Given the description of an element on the screen output the (x, y) to click on. 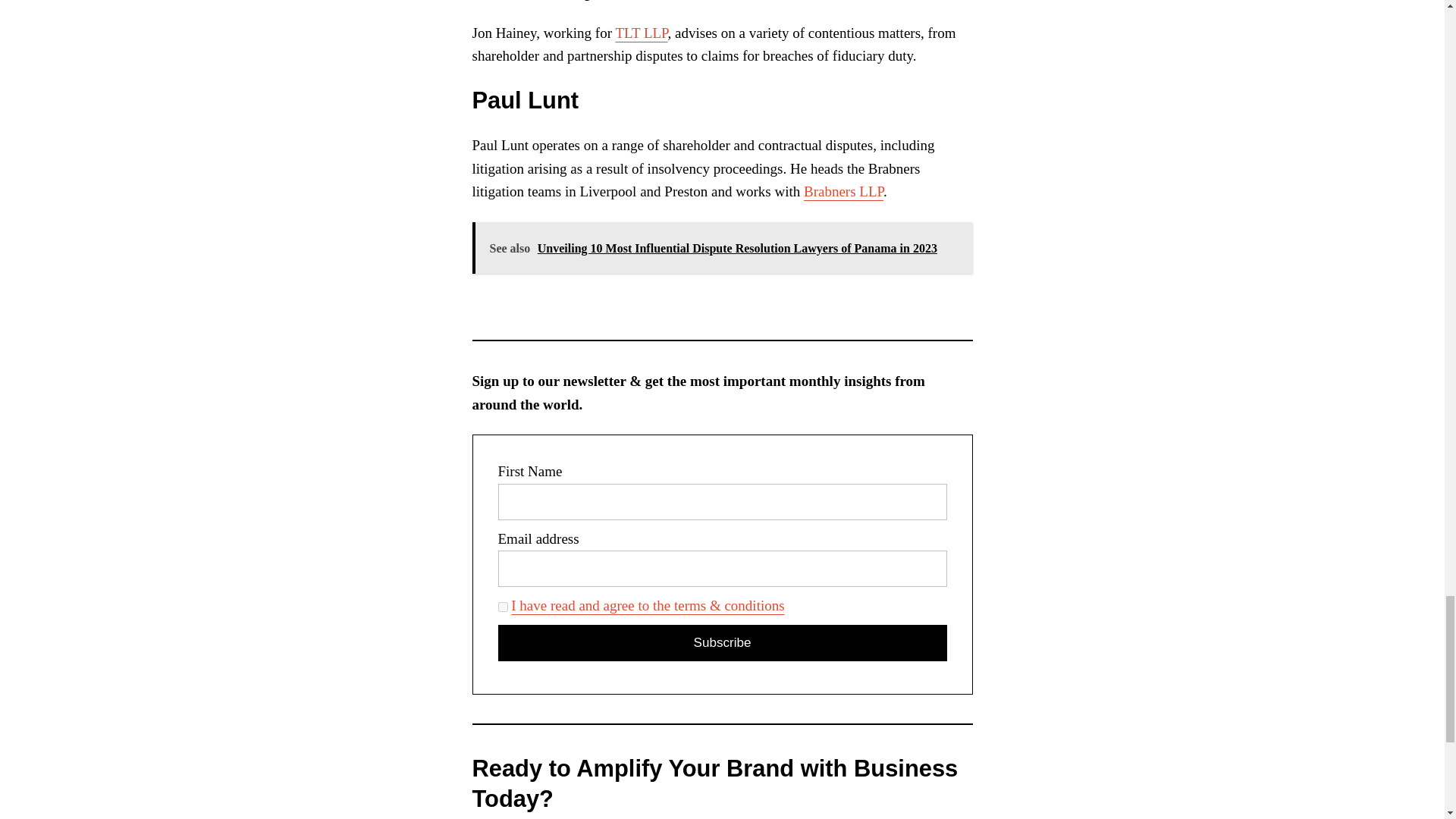
1 (501, 606)
Subscribe (721, 642)
